Given the description of an element on the screen output the (x, y) to click on. 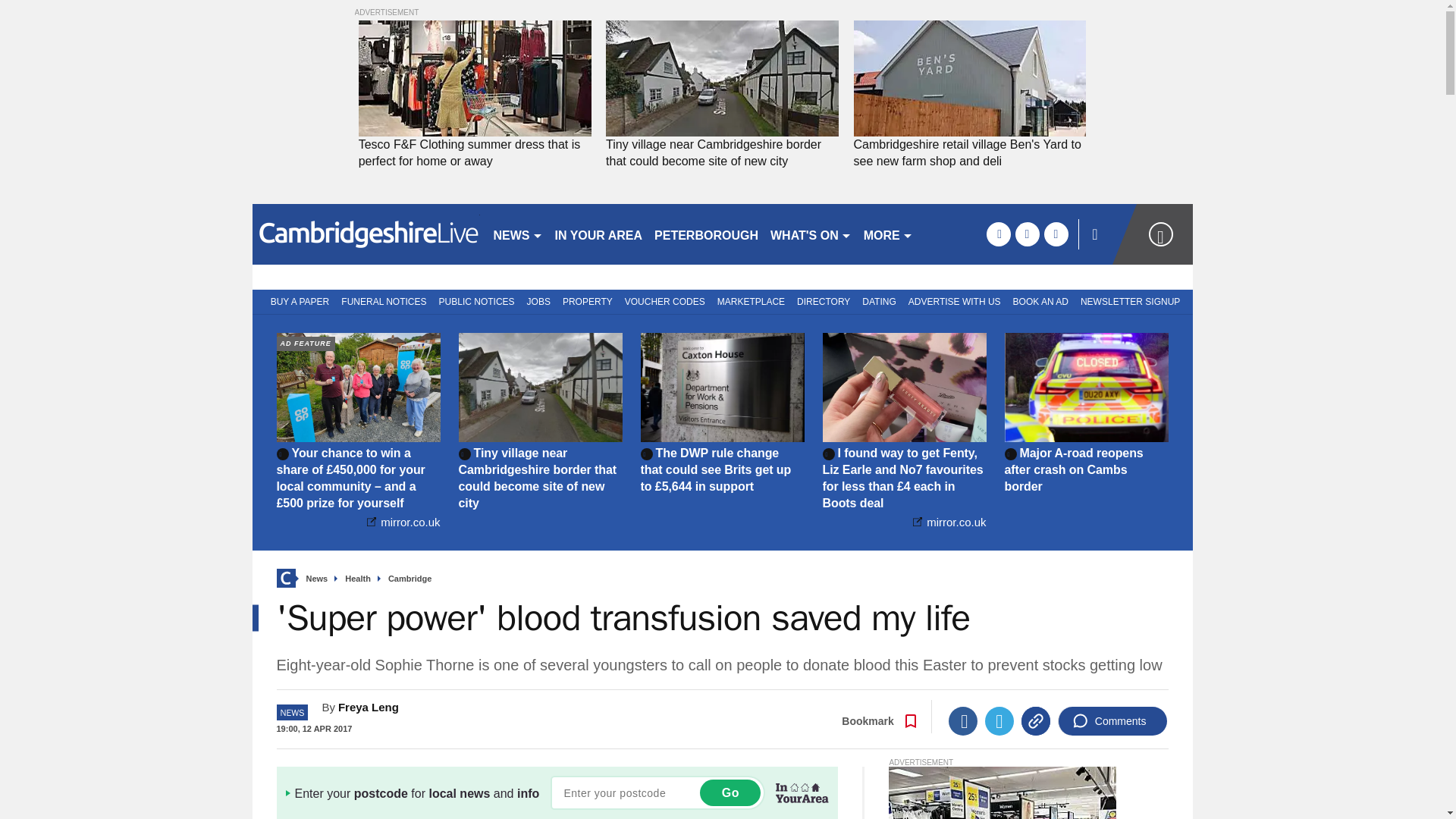
NEWS (517, 233)
Twitter (999, 720)
WHAT'S ON (810, 233)
instagram (1055, 233)
facebook (997, 233)
Facebook (962, 720)
IN YOUR AREA (598, 233)
cambridgenews (365, 233)
Comments (1112, 720)
PETERBOROUGH (705, 233)
